Given the description of an element on the screen output the (x, y) to click on. 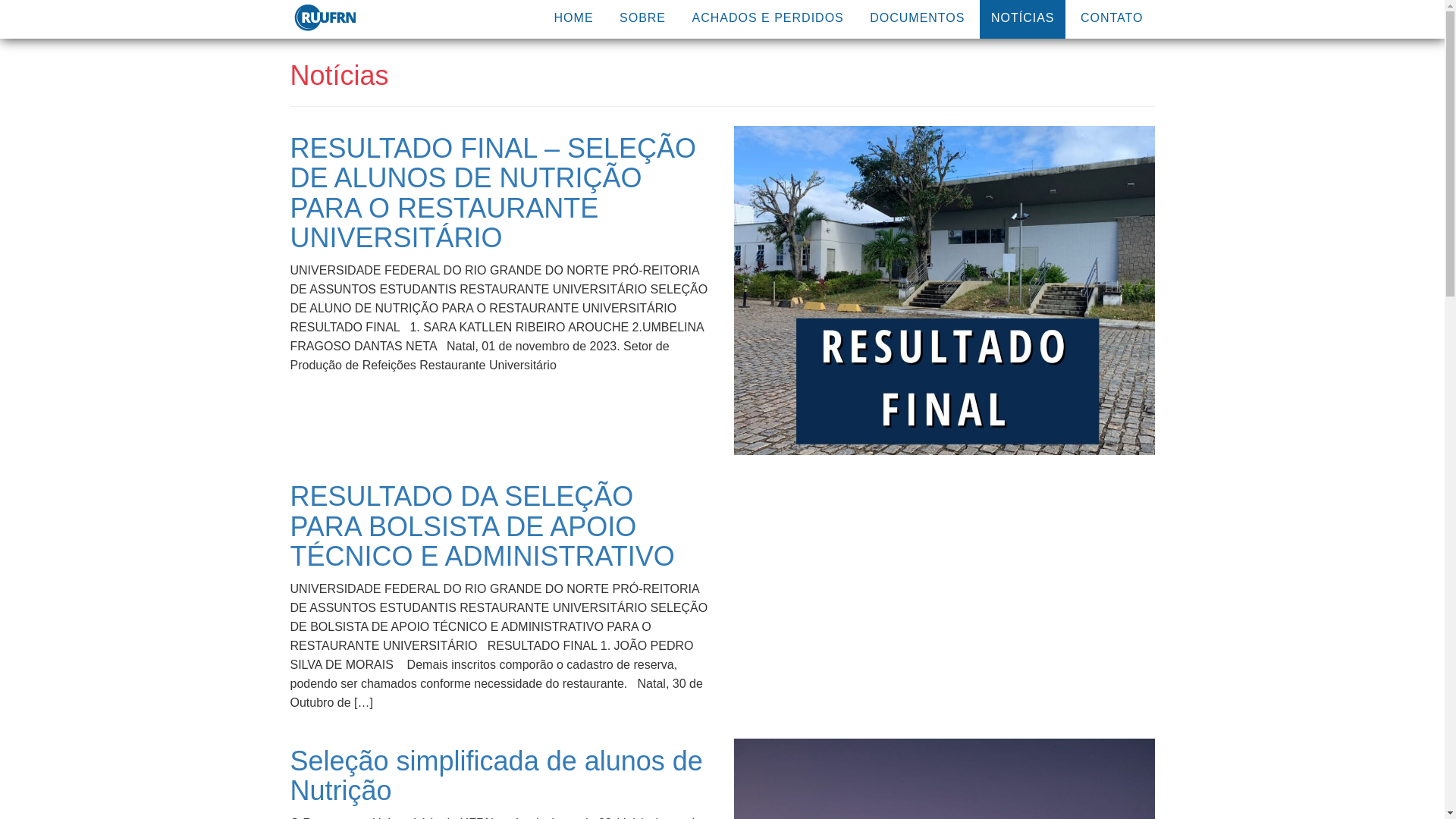
ACHADOS E PERDIDOS Element type: text (767, 17)
SOBRE Element type: text (642, 17)
DOCUMENTOS Element type: text (916, 17)
CONTATO Element type: text (1111, 17)
HOME Element type: text (573, 17)
